Given the description of an element on the screen output the (x, y) to click on. 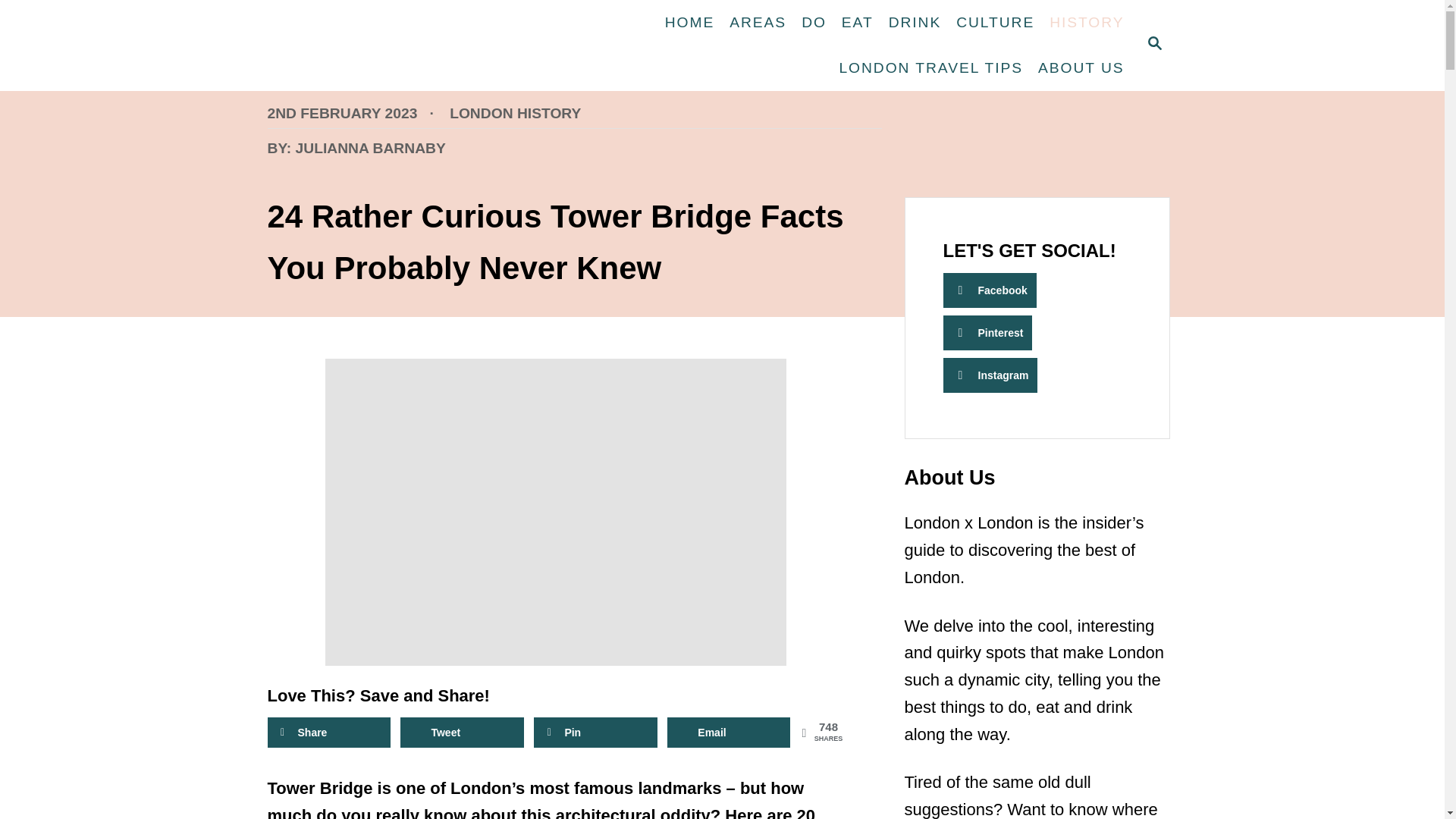
AREAS (757, 22)
JULIANNA BARNABY (370, 148)
London x London (365, 45)
CULTURE (995, 22)
LONDON TRAVEL TIPS (930, 68)
EAT (857, 22)
ABOUT US (1080, 68)
DO (1153, 45)
Share (813, 22)
